Given the description of an element on the screen output the (x, y) to click on. 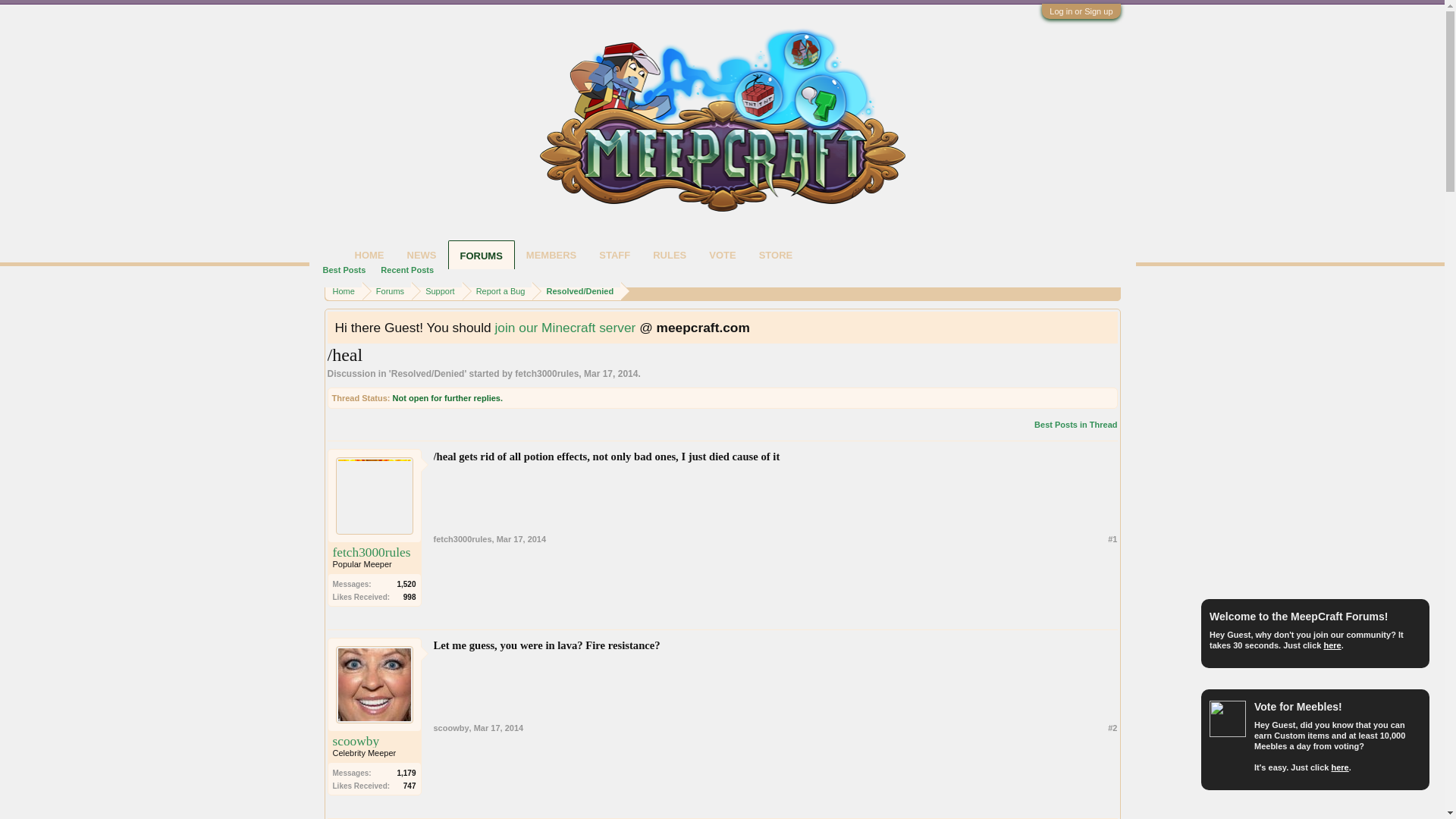
Mar 17, 2014 at 4:28 PM (610, 373)
Permalink (498, 727)
Home (342, 291)
Best Posts in Thread (1074, 424)
Report a Bug (497, 291)
here (1331, 645)
Permalink (521, 538)
Forums (387, 291)
here (1339, 767)
join our Minecraft server (564, 327)
fetch3000rules (546, 373)
Log in or Sign up (1080, 10)
Mar 17, 2014 (610, 373)
Support (437, 291)
Open quick navigation (1110, 290)
